Given the description of an element on the screen output the (x, y) to click on. 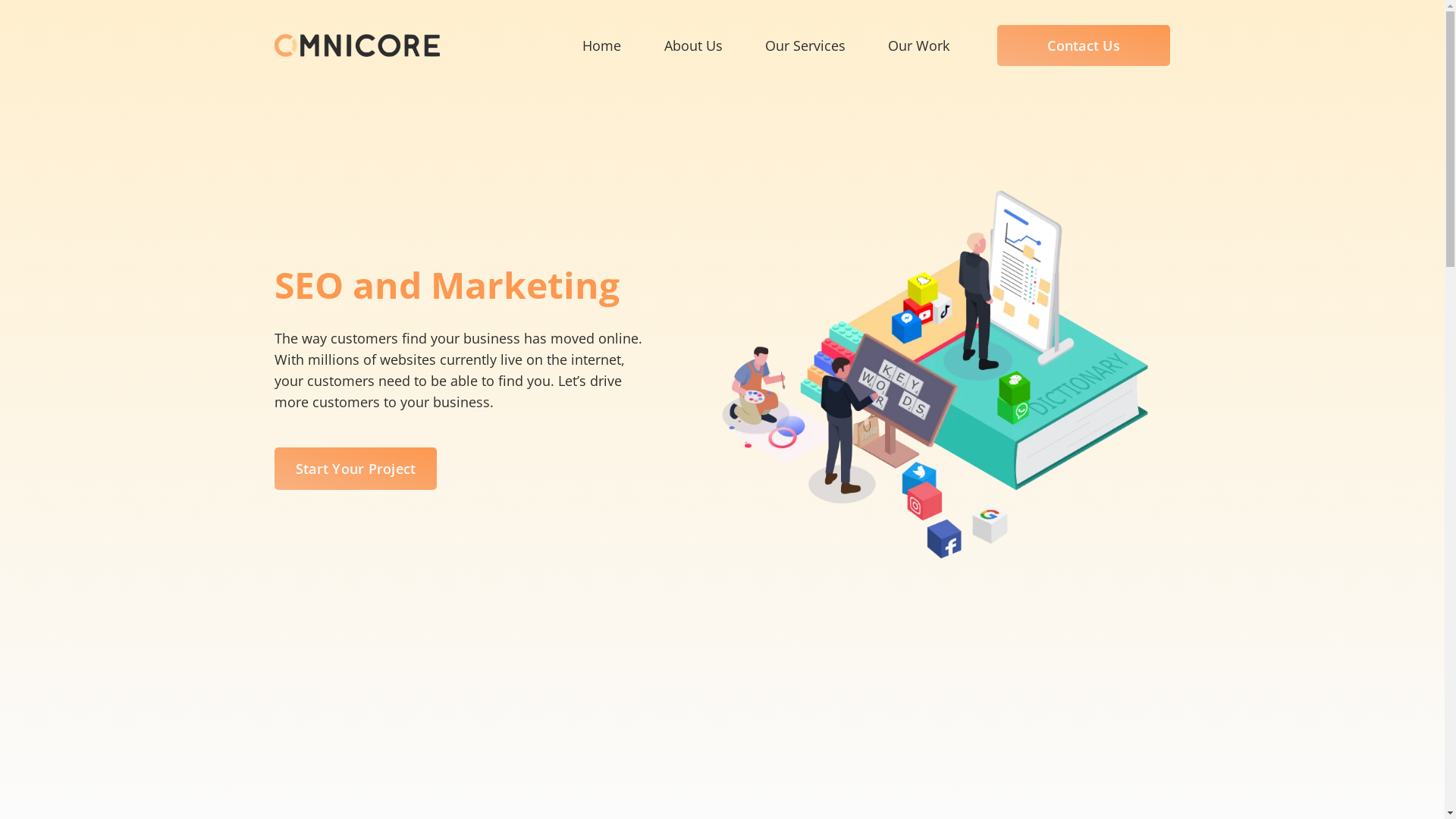
Contact Us Element type: text (1083, 45)
Our Work Element type: text (918, 45)
Start Your Project Element type: text (355, 468)
Home Element type: text (601, 45)
About Us Element type: text (693, 45)
